Given the description of an element on the screen output the (x, y) to click on. 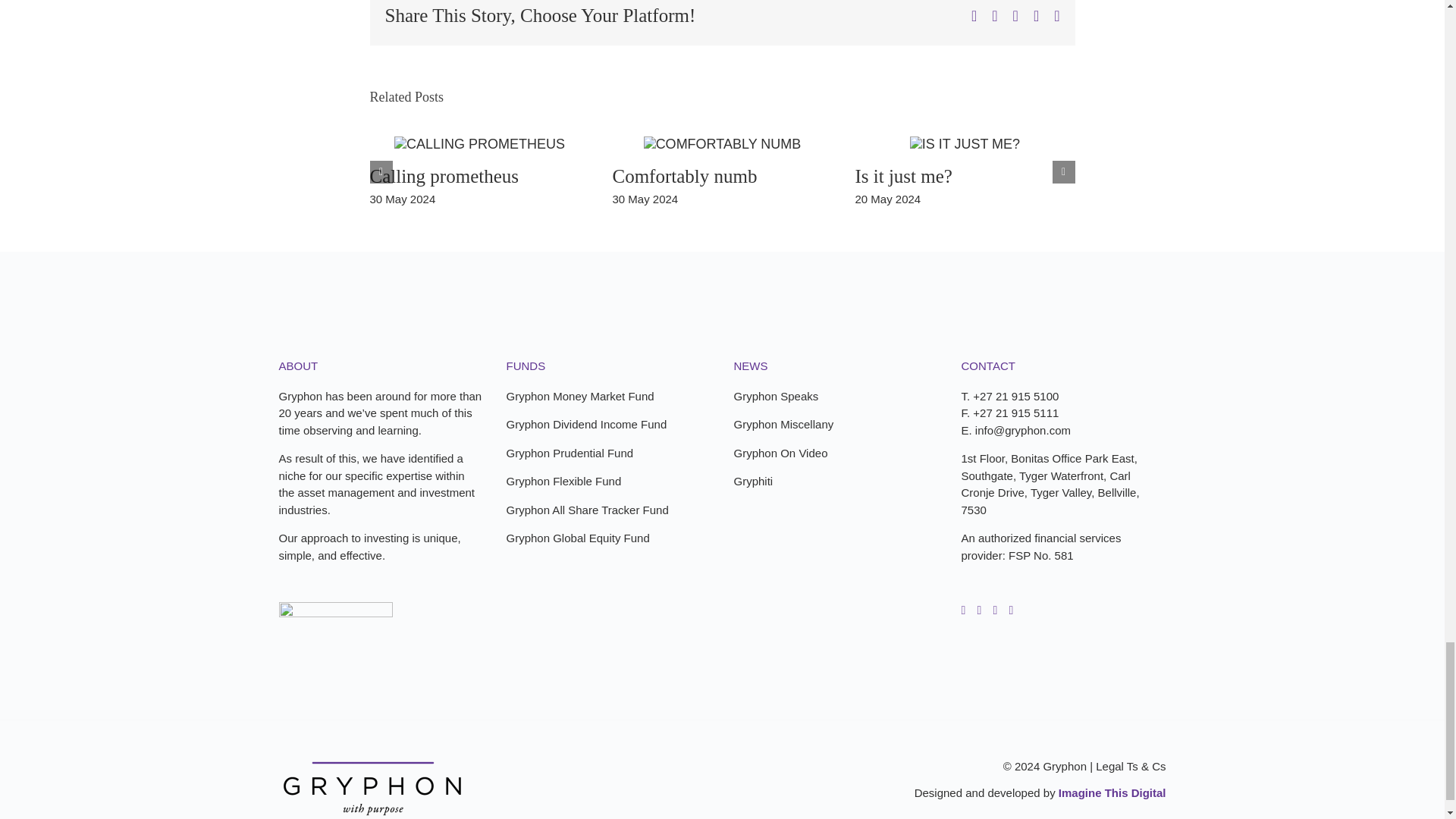
CALLING PROMETHEUS (444, 176)
COMFORTABLY NUMB (684, 176)
IS IT JUST ME? (903, 176)
